Given the description of an element on the screen output the (x, y) to click on. 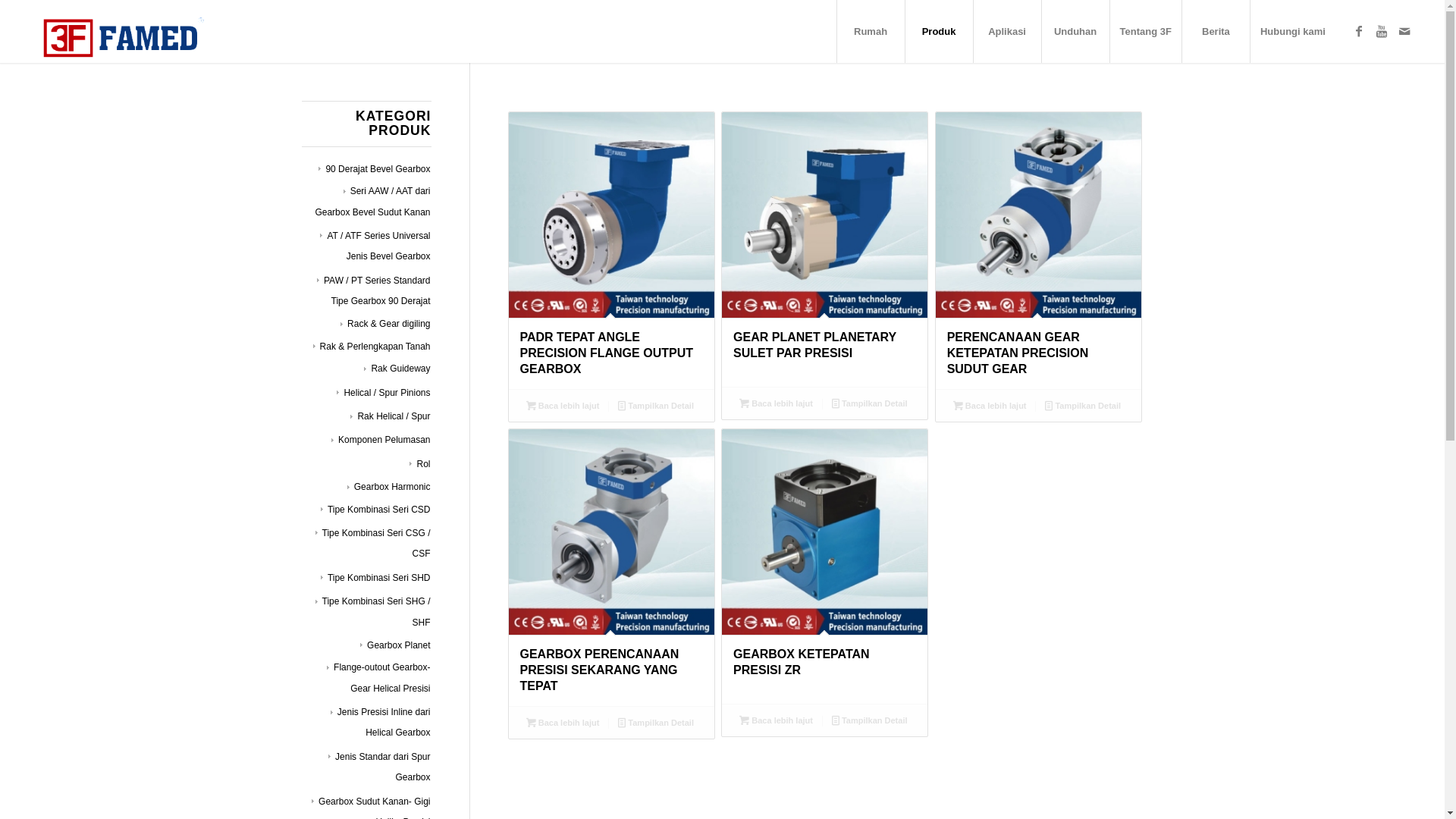
Jenis Presisi Inline dari Helical Gearbox Element type: text (380, 721)
Rumah Element type: text (870, 31)
Tampilkan Detail Element type: text (869, 403)
Tampilkan Detail Element type: text (869, 720)
Flange-outout Gearbox- Gear Helical Presisi Element type: text (377, 677)
Gearbox Harmonic Element type: text (388, 486)
Rak Helical / Spur Element type: text (389, 416)
Rak Guideway Element type: text (396, 368)
Tipe Kombinasi Seri SHD Element type: text (375, 577)
Baca lebih lajut Element type: text (989, 405)
AT / ATF Series Universal Jenis Bevel Gearbox Element type: text (374, 245)
Rak & Perlengkapan Tanah Element type: text (371, 346)
GEARBOX KETEPATAN PRESISI ZR Element type: text (824, 566)
GEARBOX PERENCANAAN PRESISI SEKARANG YANG TEPAT Element type: text (610, 567)
Baca lebih lajut Element type: text (775, 403)
Baca lebih lajut Element type: text (775, 720)
Tipe Kombinasi Seri CSG / CSF Element type: text (372, 542)
Gearbox Planet Element type: text (394, 645)
GEAR PLANET PLANETARY SULET PAR PRESISI Element type: text (824, 249)
Unduhan Element type: text (1075, 31)
Tampilkan Detail Element type: text (655, 722)
Baca lebih lajut Element type: text (561, 405)
Rol Element type: text (419, 463)
Tipe Kombinasi Seri SHG / SHF Element type: text (372, 611)
PAW / PT Series Standard Tipe Gearbox 90 Derajat Element type: text (373, 290)
Jenis Standar dari Spur Gearbox Element type: text (378, 766)
Baca lebih lajut Element type: text (561, 722)
Seri AAW / AAT dari Gearbox Bevel Sudut Kanan Element type: text (371, 200)
Komponen Pelumasan Element type: text (380, 439)
Aplikasi Element type: text (1006, 31)
Youtube Element type: hover (1381, 30)
Rack & Gear digiling Element type: text (384, 323)
Hubungi kami Element type: text (1292, 31)
PERENCANAAN GEAR KETEPATAN PRECISION SUDUT GEAR Element type: text (1038, 250)
Berita Element type: text (1215, 31)
90 Derajat Bevel Gearbox Element type: text (373, 168)
Tentang 3F Element type: text (1145, 31)
Tipe Kombinasi Seri CSD Element type: text (375, 509)
Produk Element type: text (938, 31)
Tampilkan Detail Element type: text (655, 405)
Helical / Spur Pinions Element type: text (382, 392)
Tampilkan Detail Element type: text (1082, 405)
Surat Element type: hover (1404, 30)
PADR TEPAT ANGLE PRECISION FLANGE OUTPUT GEARBOX Element type: text (610, 250)
Facebook Element type: hover (1358, 30)
